Given the description of an element on the screen output the (x, y) to click on. 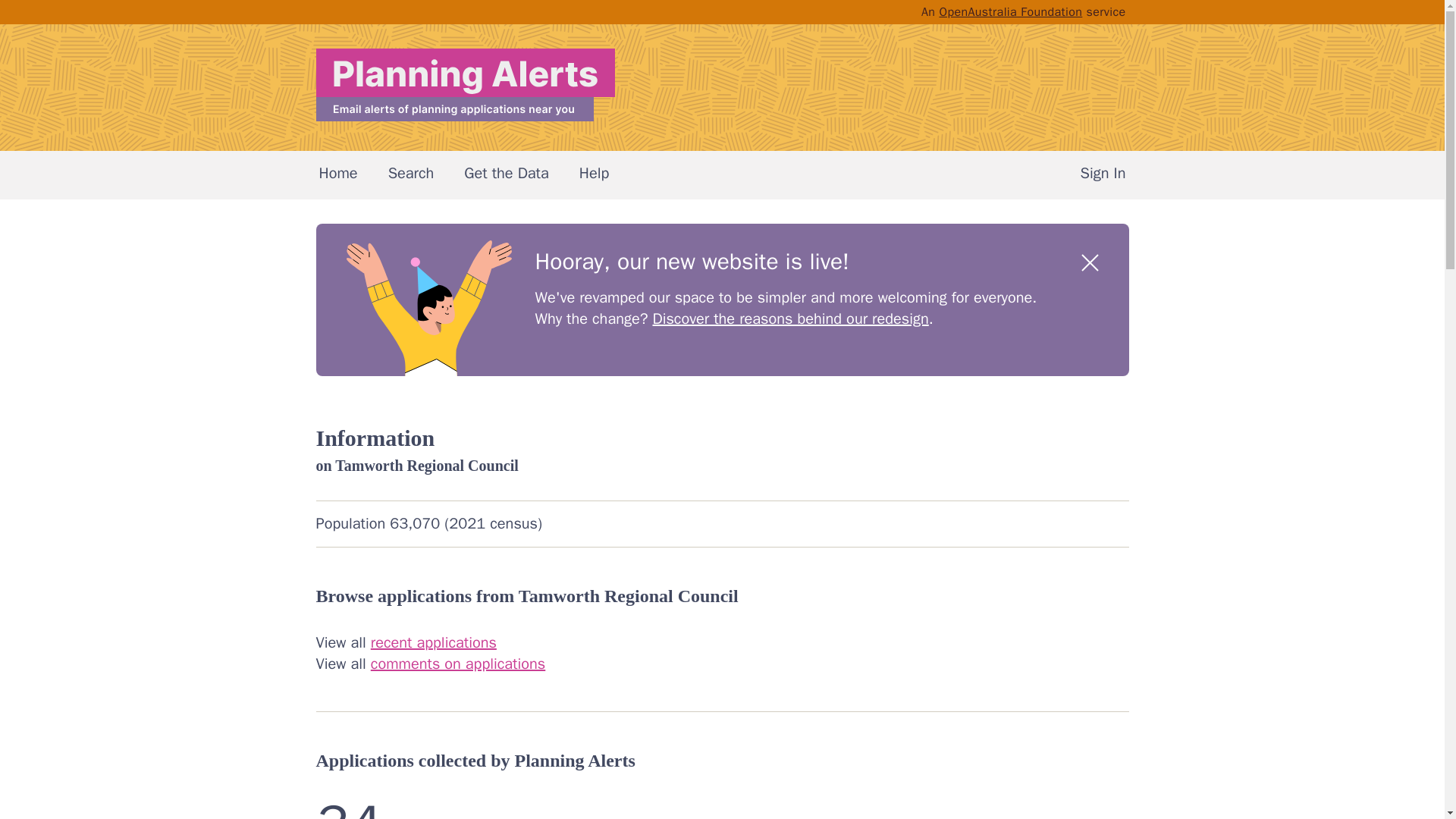
Sign In (1103, 174)
Close (1090, 262)
Discover the reasons behind our redesign (790, 318)
Search (411, 174)
An OpenAustralia Foundation service (1023, 12)
recent applications (433, 642)
comments on applications (457, 663)
Home (337, 174)
Get the Data (506, 174)
